Given the description of an element on the screen output the (x, y) to click on. 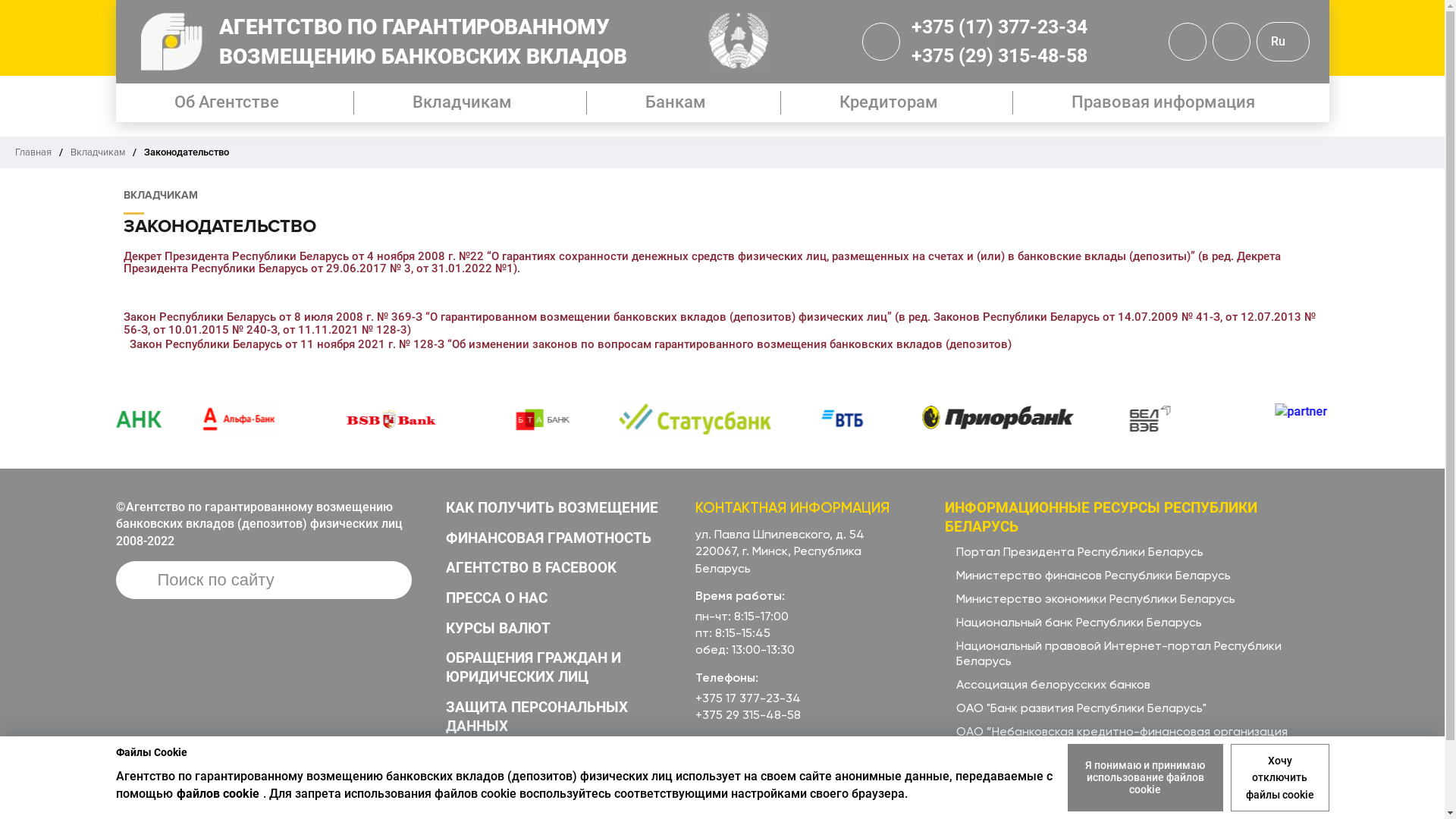
Media Line Element type: text (262, 775)
info@adc.by Element type: text (730, 762)
+375 (29) 315-48-58 Element type: text (999, 56)
+375 17 377-23-34 Element type: text (747, 698)
+375 29 315-48-58 Element type: text (747, 714)
+375 (17) 377-23-34 Element type: text (999, 27)
